Given the description of an element on the screen output the (x, y) to click on. 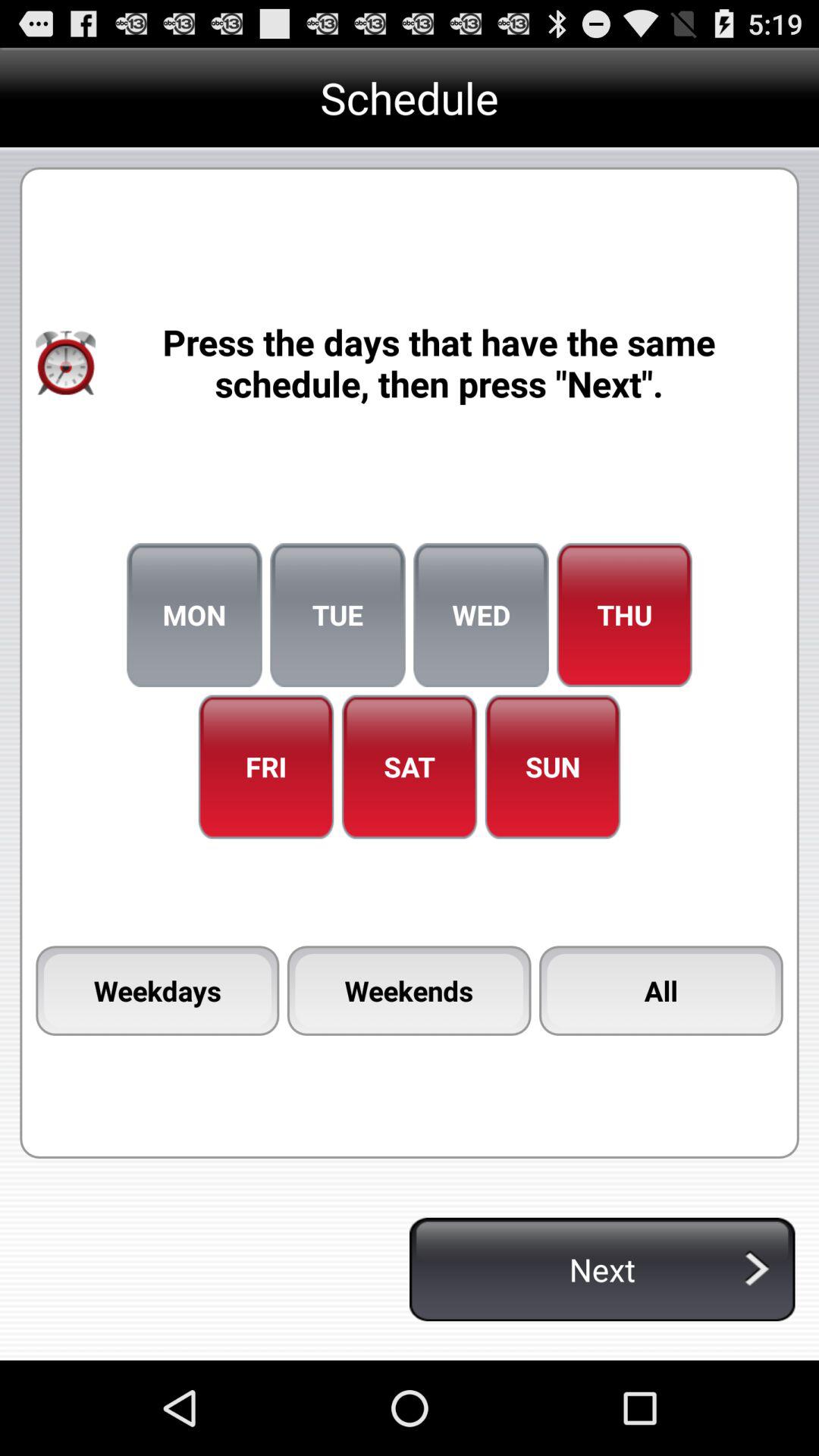
scroll to sun (552, 766)
